Given the description of an element on the screen output the (x, y) to click on. 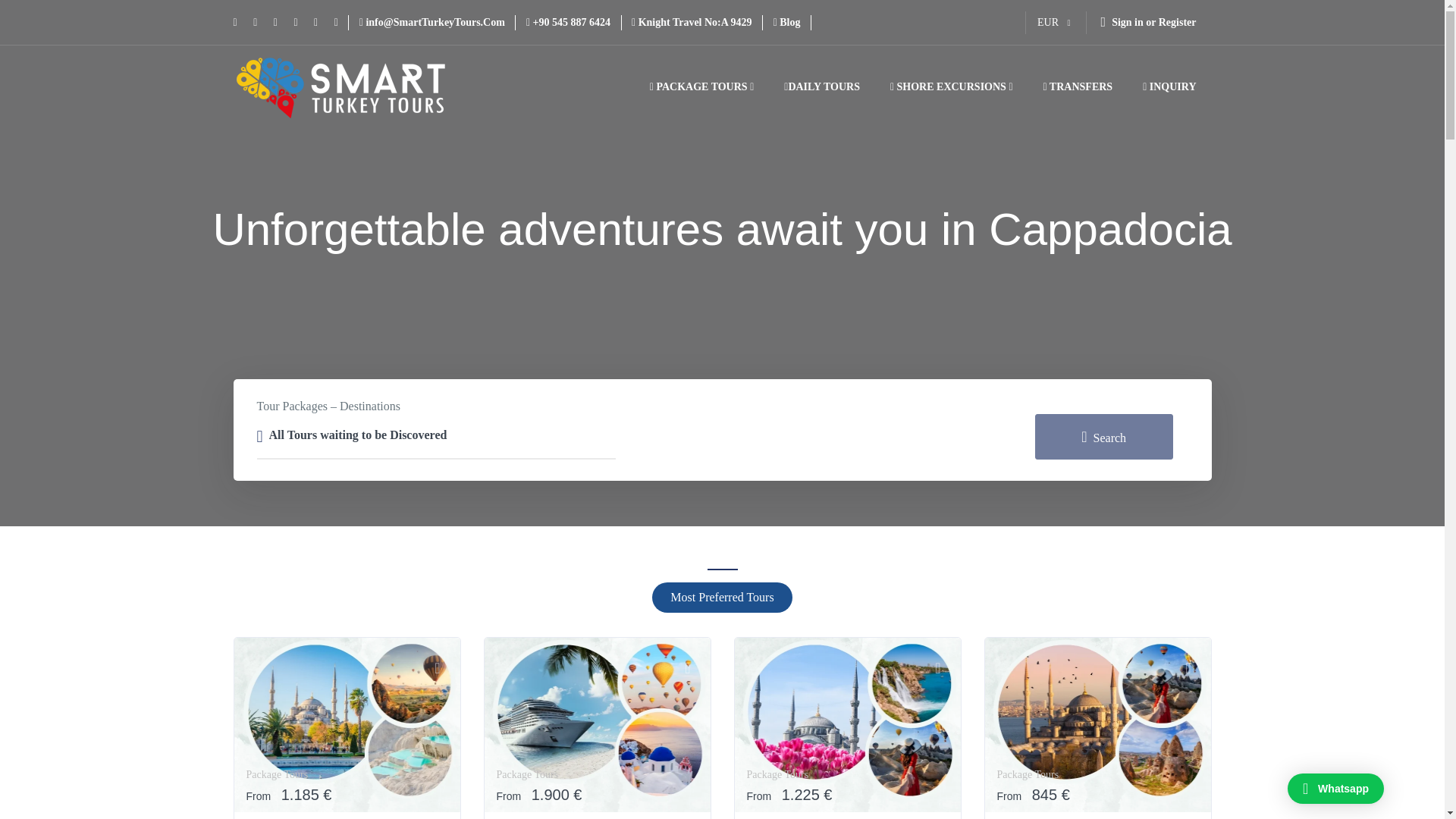
DAILY TOURS (821, 85)
TRANSFERS (1077, 85)
PACKAGE TOURS (701, 85)
Knight Travel No:A 9429 (691, 21)
SHORE EXCURSIONS (951, 85)
Blog (786, 21)
Sign in or Register (1148, 22)
INQUIRY (1168, 85)
